Given the description of an element on the screen output the (x, y) to click on. 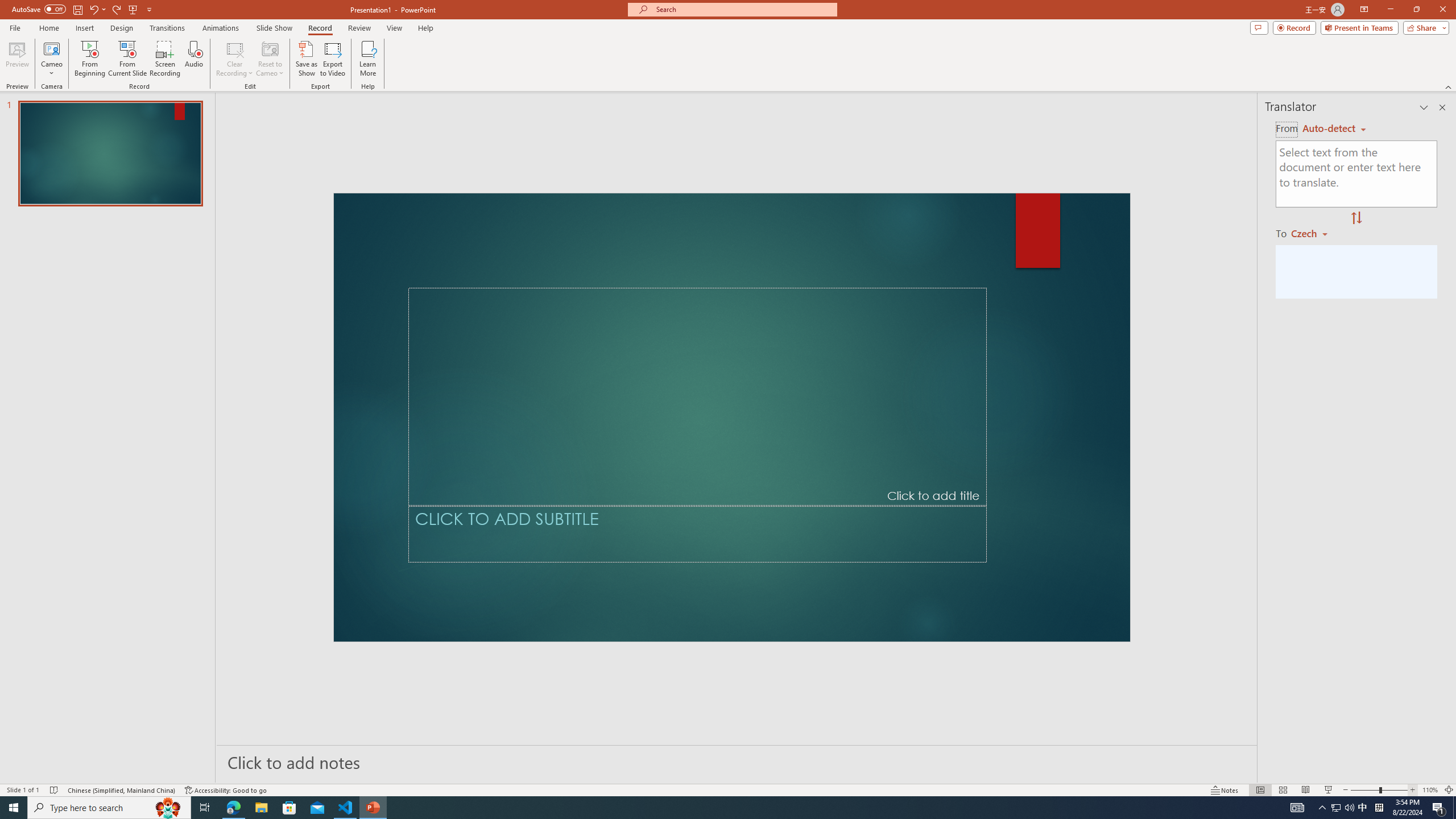
Zoom 110% (1430, 790)
Auto-detect (1334, 128)
Screen Recording (165, 58)
